Given the description of an element on the screen output the (x, y) to click on. 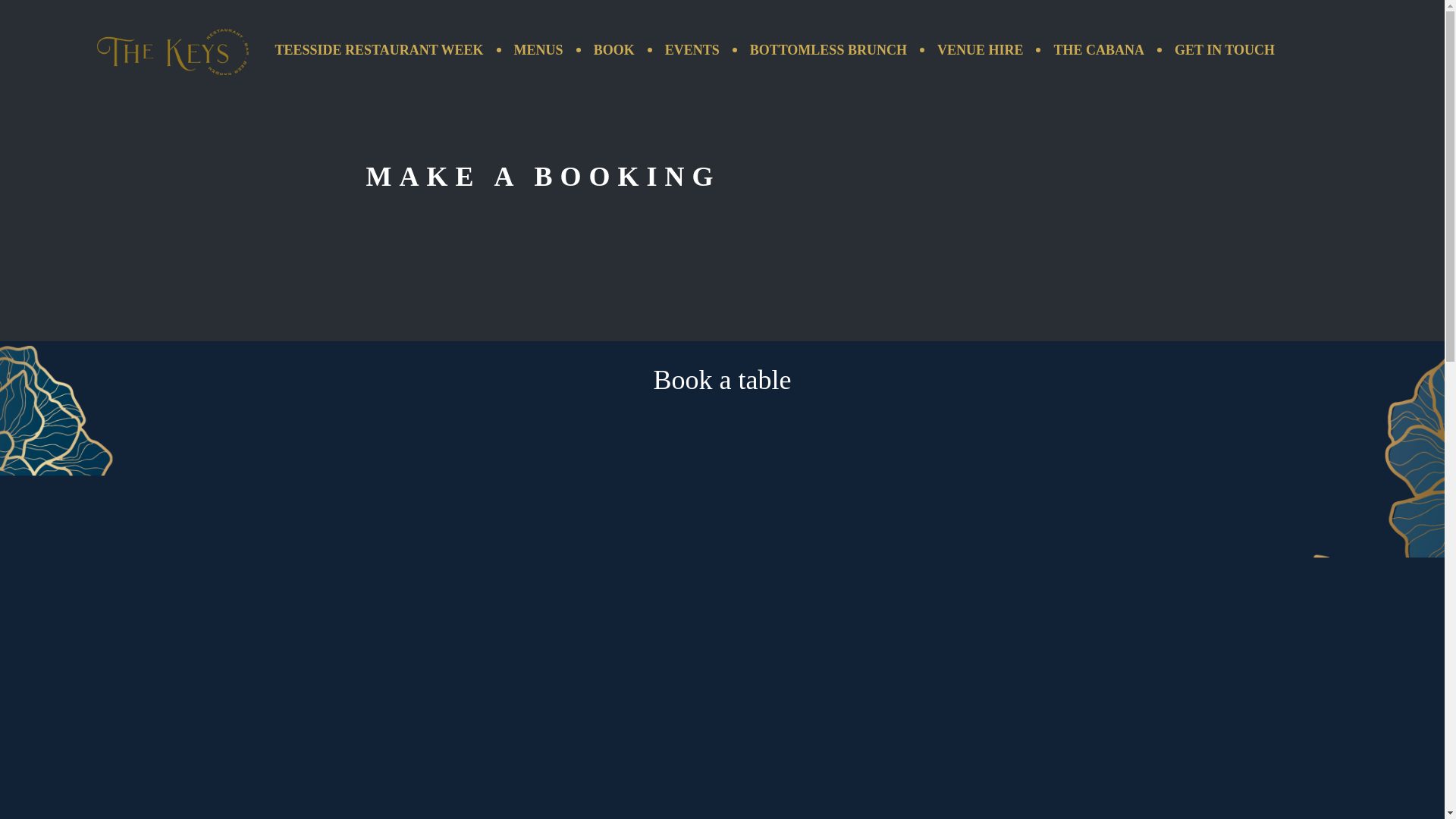
THE CABANA (1098, 49)
VENUE HIRE (980, 49)
GET IN TOUCH (1224, 49)
BOTTOMLESS BRUNCH (828, 49)
TEESSIDE RESTAURANT WEEK (378, 49)
